Given the description of an element on the screen output the (x, y) to click on. 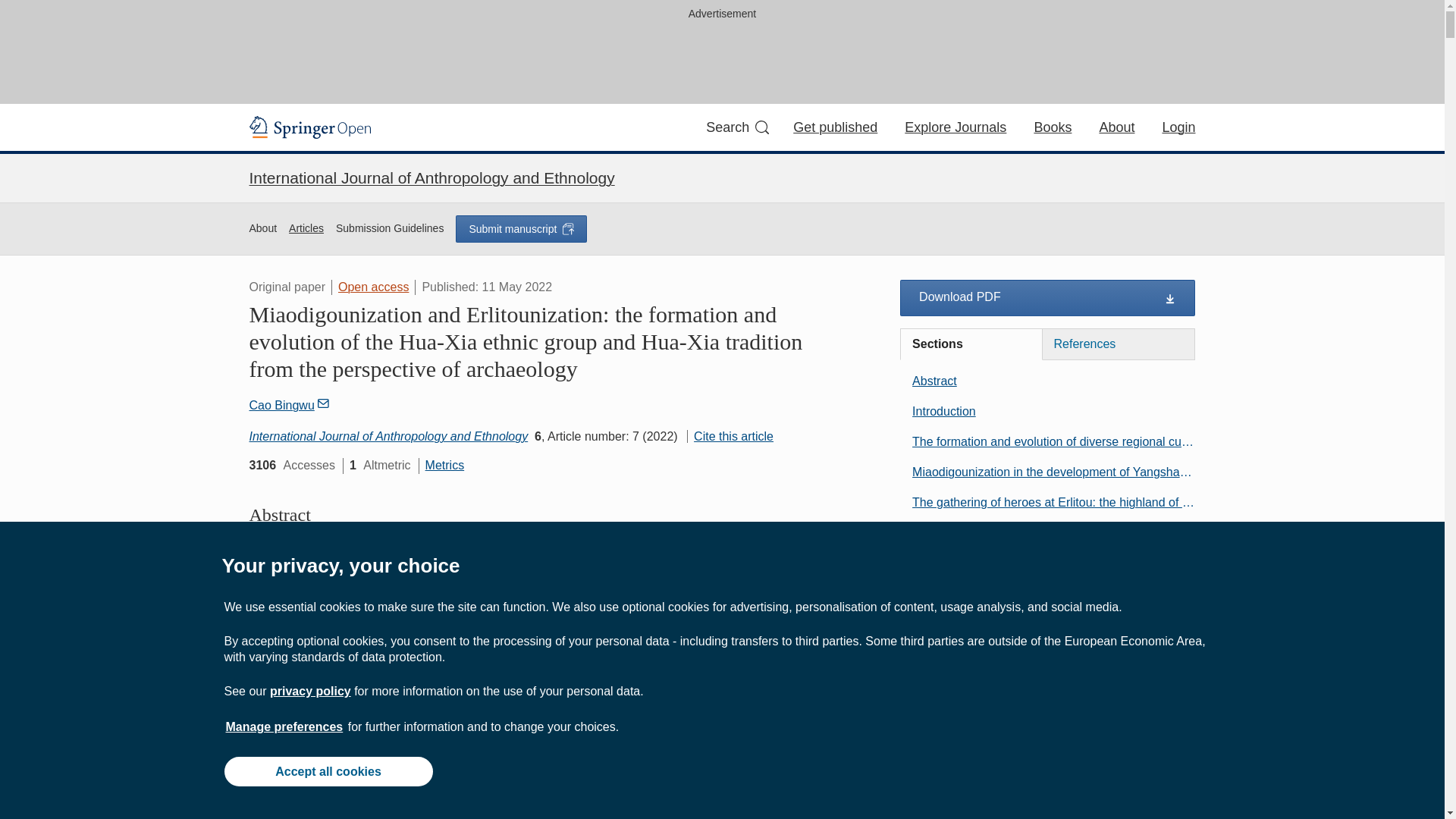
Explore Journals (955, 127)
Manage preferences (284, 726)
Get published (835, 127)
Cite this article (730, 436)
3rd party ad content (722, 59)
Login (1178, 127)
About (1116, 127)
Submission Guidelines (390, 228)
Cao Bingwu  (290, 404)
Submit manuscript (520, 228)
Metrics (444, 464)
International Journal of Anthropology and Ethnology (387, 436)
Search (737, 127)
About (262, 228)
